Given the description of an element on the screen output the (x, y) to click on. 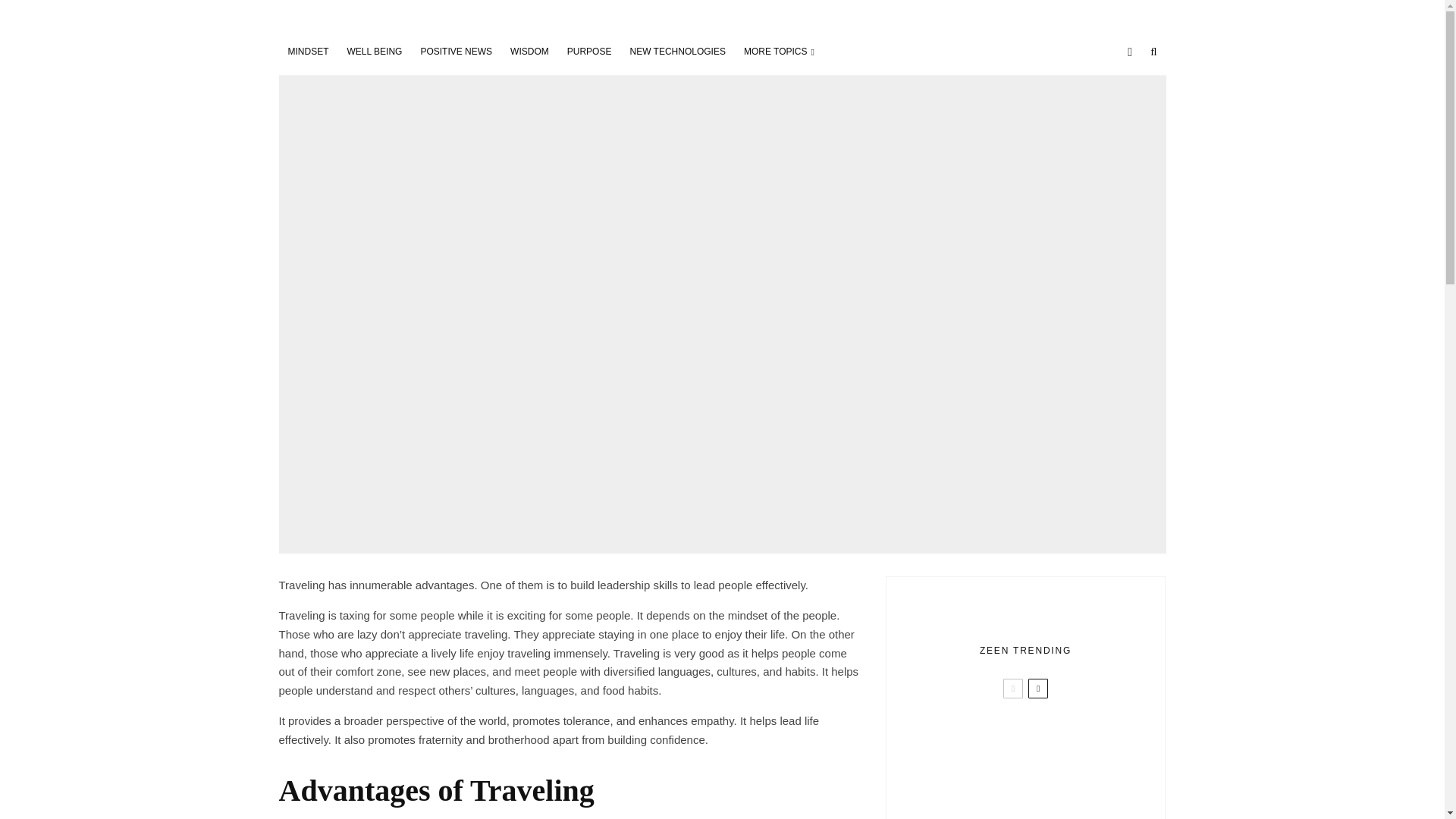
MINDSET (308, 52)
PURPOSE (589, 52)
WELL BEING (374, 52)
POSITIVE NEWS (455, 52)
WISDOM (528, 52)
